Given the description of an element on the screen output the (x, y) to click on. 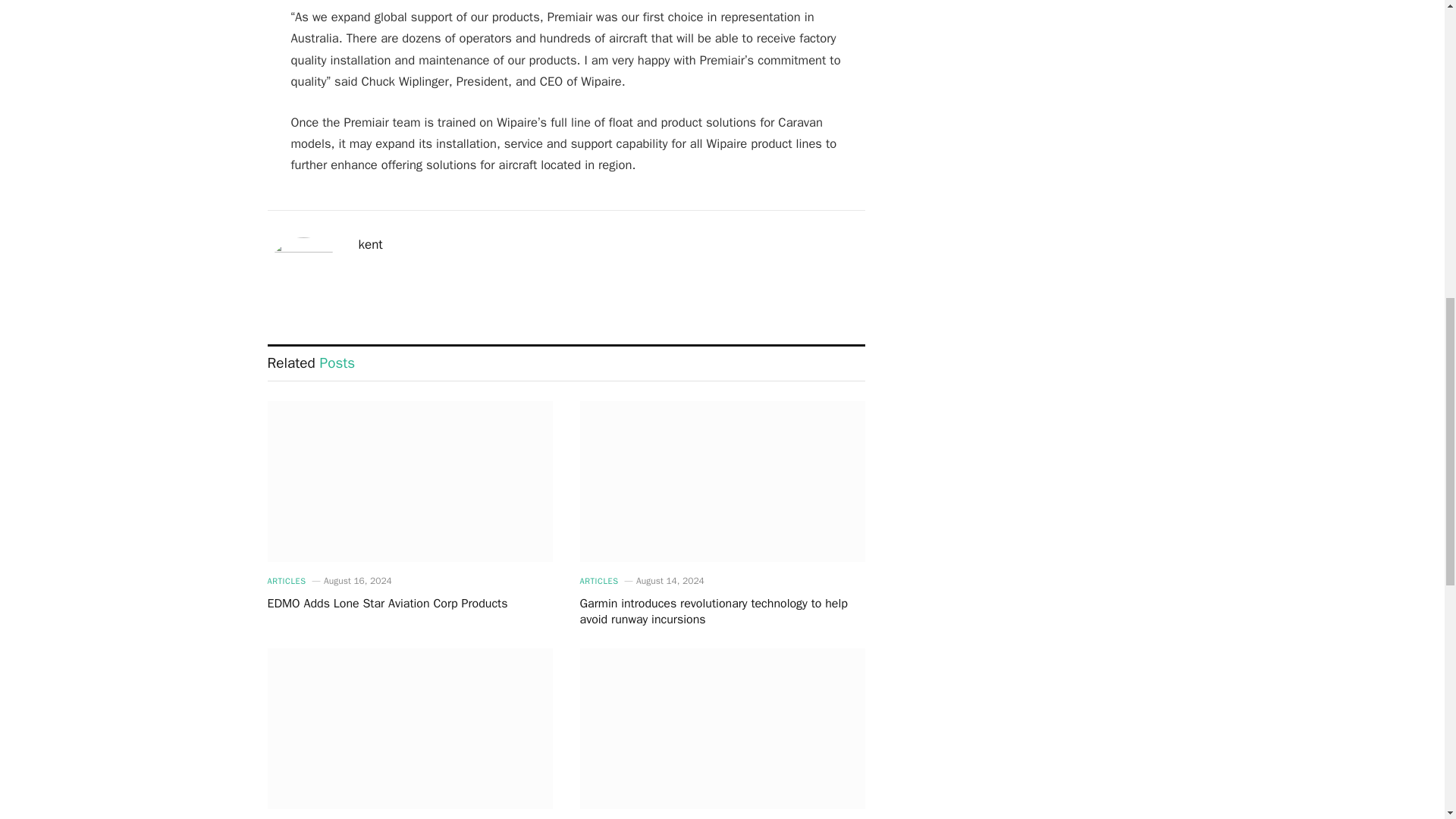
ARTICLES (598, 581)
EDMO Adds Lone Star Aviation Corp Products (408, 604)
kent (369, 244)
EDMO Adds Lone Star Aviation Corp Products (408, 481)
Posts by kent (369, 244)
ARTICLES (285, 581)
